Given the description of an element on the screen output the (x, y) to click on. 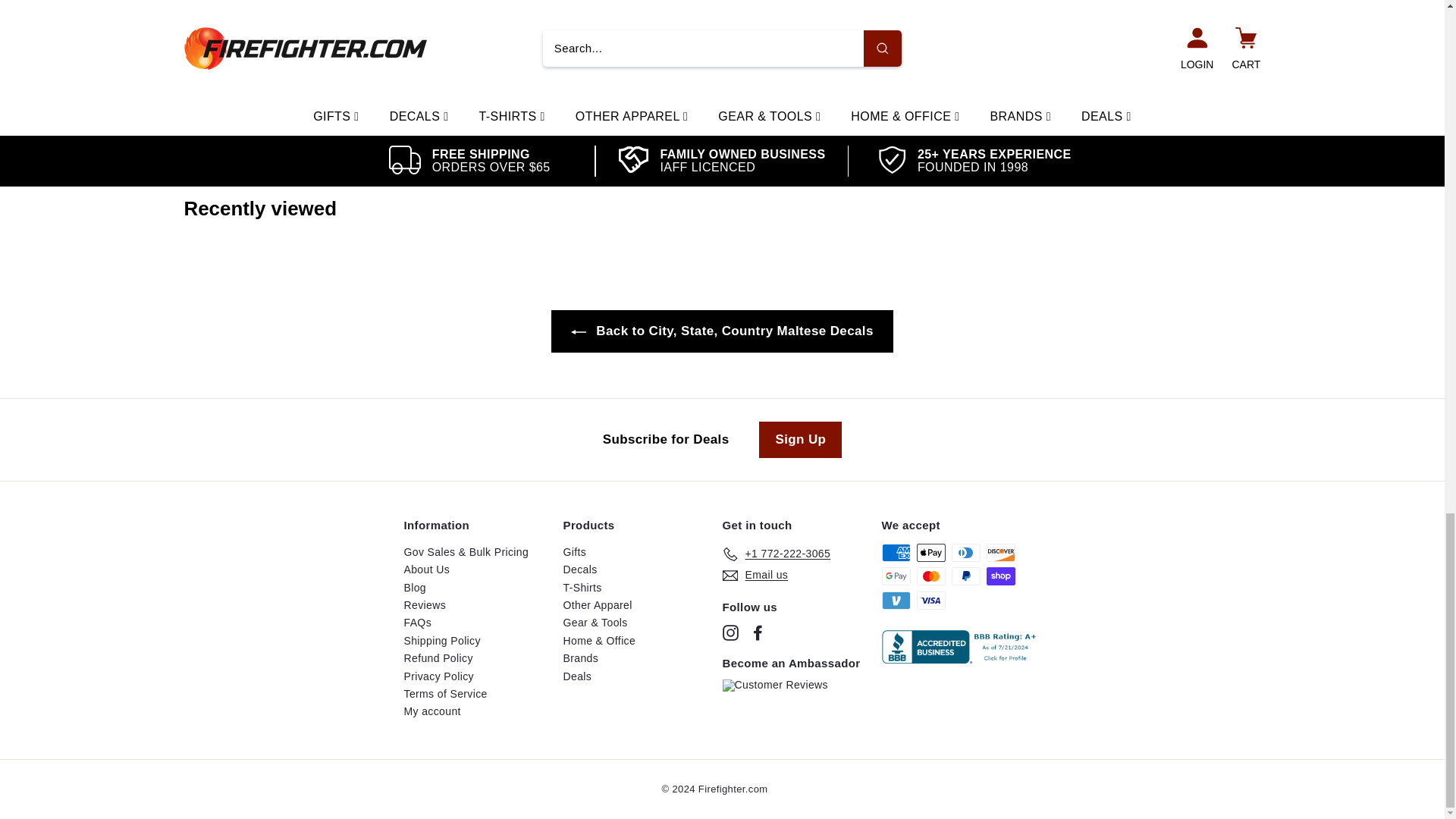
Firefighter.com on Instagram (730, 632)
Diners Club (964, 552)
Firefighter.com on Facebook (757, 632)
Apple Pay (929, 552)
American Express (895, 552)
